Given the description of an element on the screen output the (x, y) to click on. 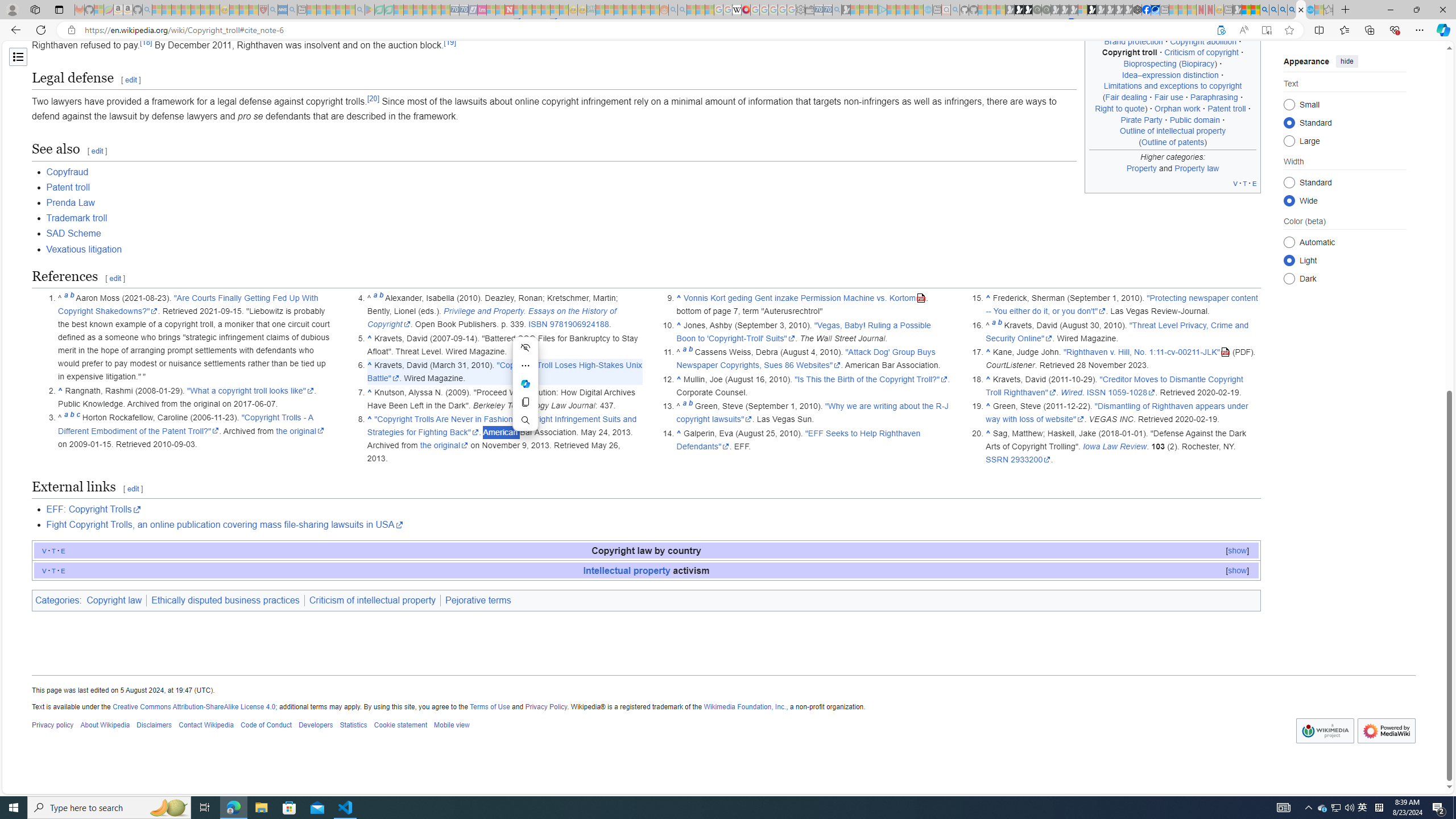
t (52, 569)
Microsoft Start Gaming - Sleeping (846, 9)
MediaWiki (745, 9)
[20] (373, 98)
The Weather Channel - MSN - Sleeping (175, 9)
